Given the description of an element on the screen output the (x, y) to click on. 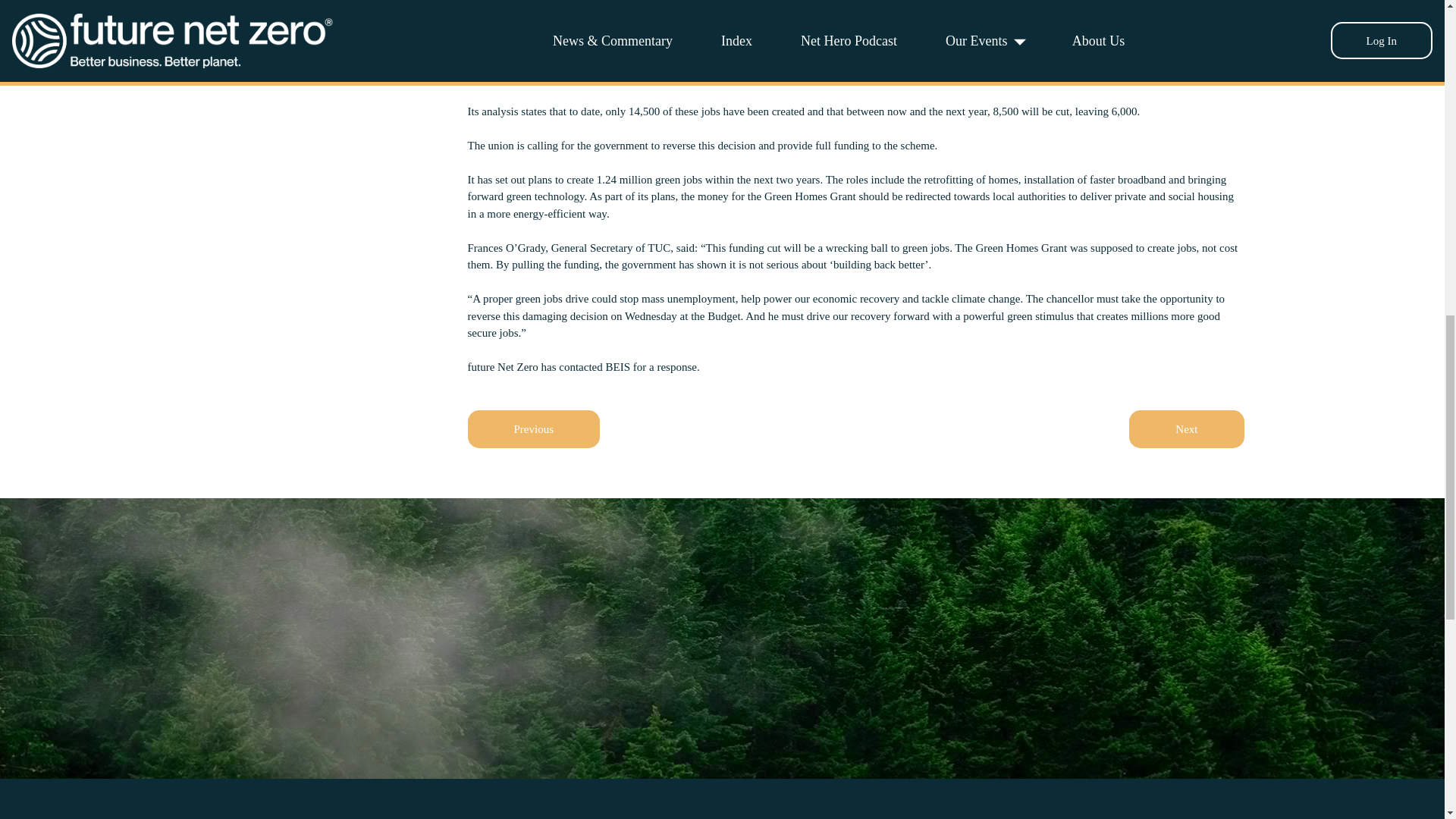
Previous (533, 429)
retrofitting of homes (970, 179)
Next (1186, 429)
